Given the description of an element on the screen output the (x, y) to click on. 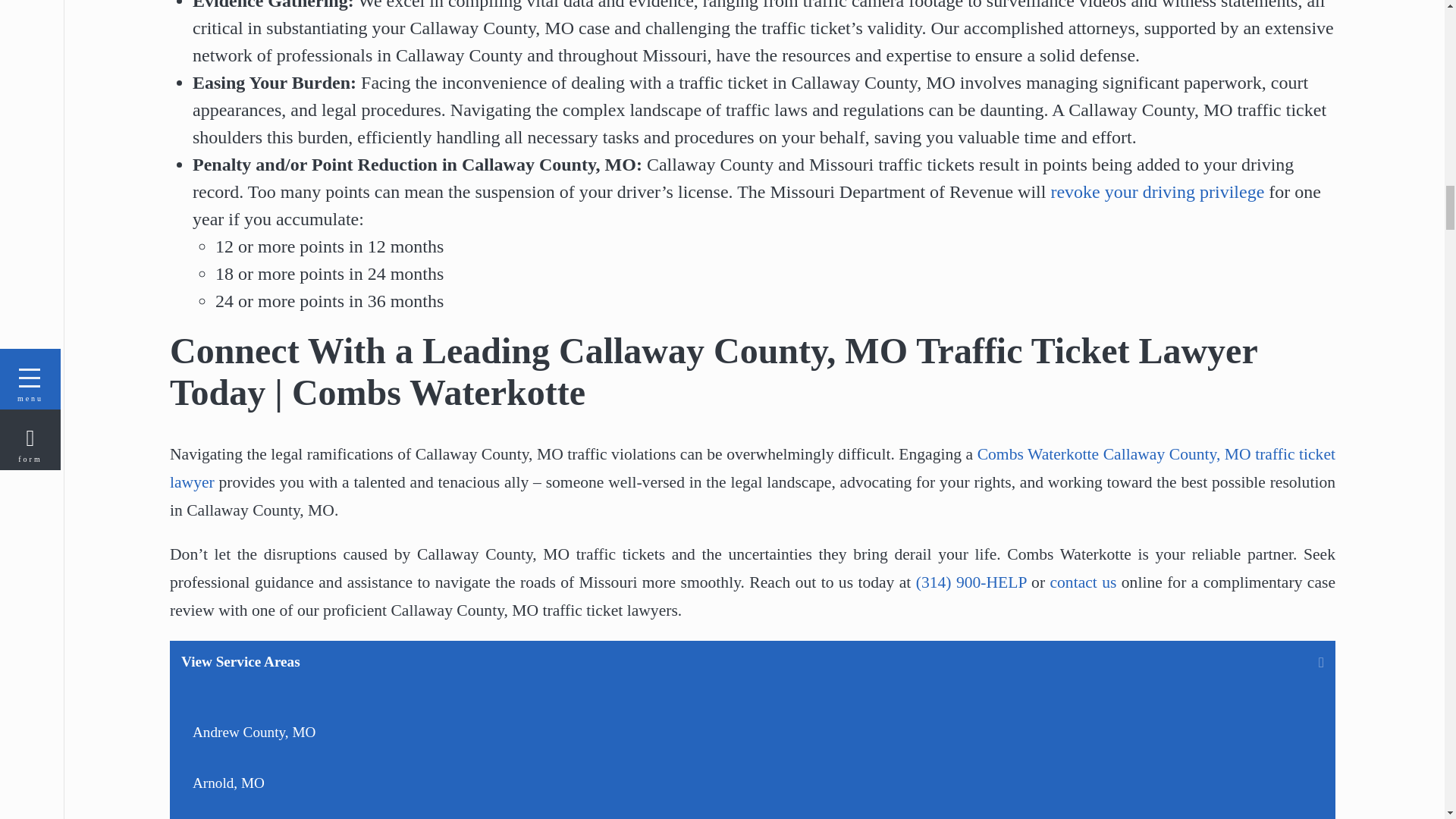
Combs Waterkotte Callaway County, MO traffic ticket lawyer (752, 468)
Traffic Ticket Lawyer Callaway County, MO - mo.gov (1156, 191)
Andrew County, MO (368, 731)
Arnold, MO (368, 782)
revoke your driving privilege (1156, 191)
Atchison County, MO (368, 813)
contact us (1082, 582)
